Given the description of an element on the screen output the (x, y) to click on. 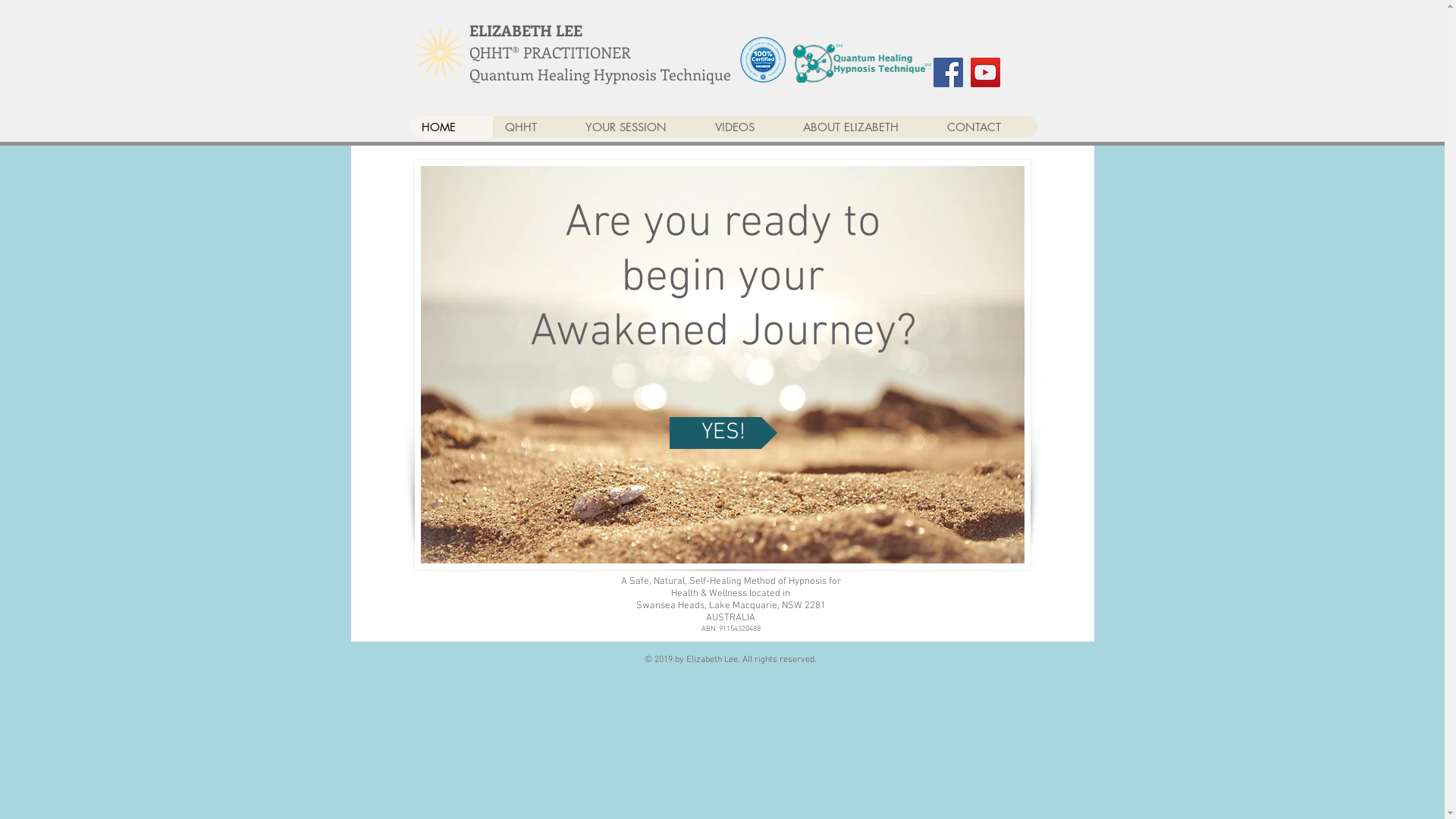
VIDEOS Element type: text (746, 127)
HOME Element type: text (450, 127)
CONTACT Element type: text (985, 127)
YES! Element type: text (722, 432)
ABOUT ELIZABETH Element type: text (862, 127)
YOUR SESSION Element type: text (637, 127)
QHHT Element type: text (532, 127)
